Given the description of an element on the screen output the (x, y) to click on. 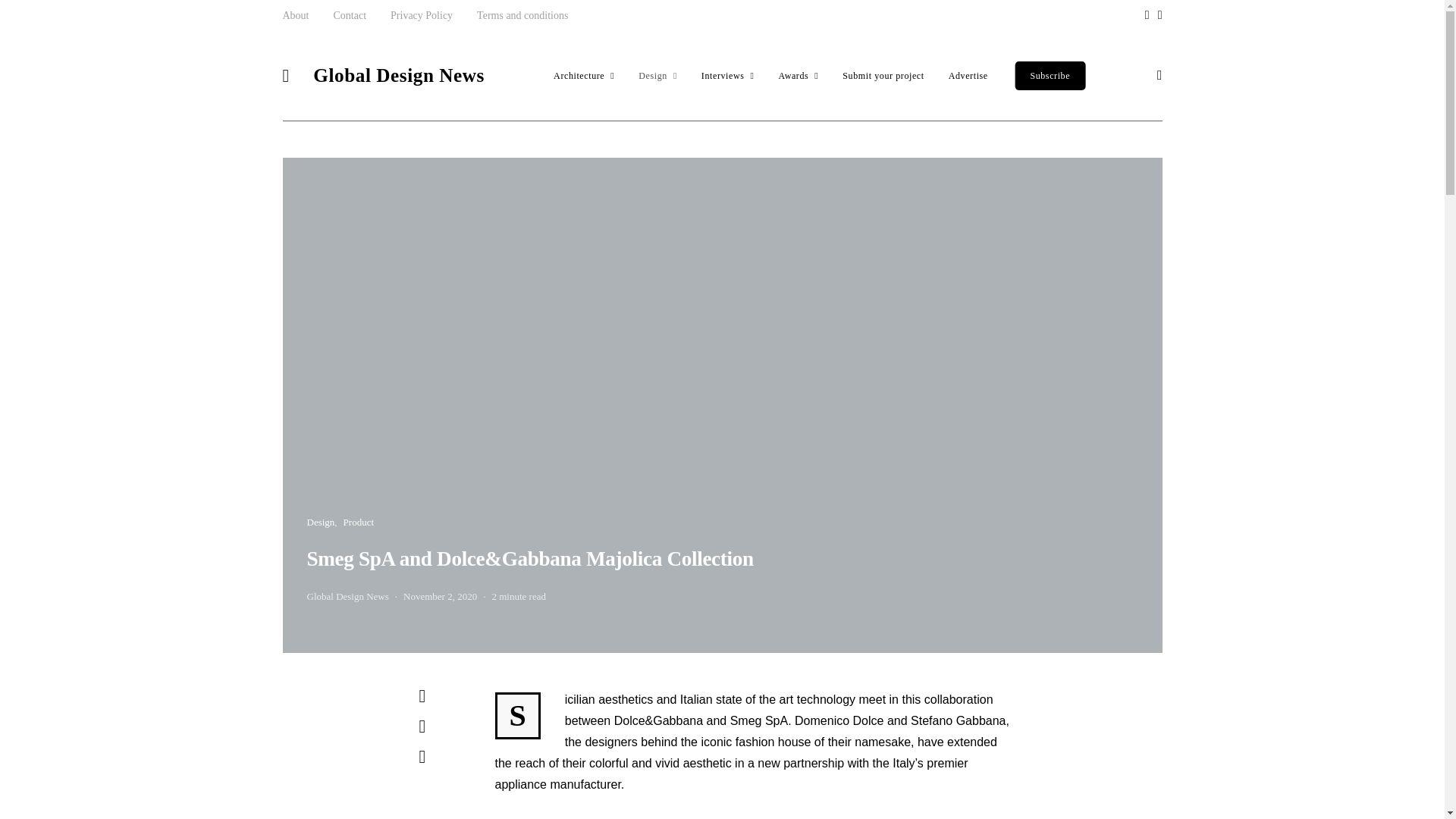
View all posts by Global Design News (346, 595)
